Given the description of an element on the screen output the (x, y) to click on. 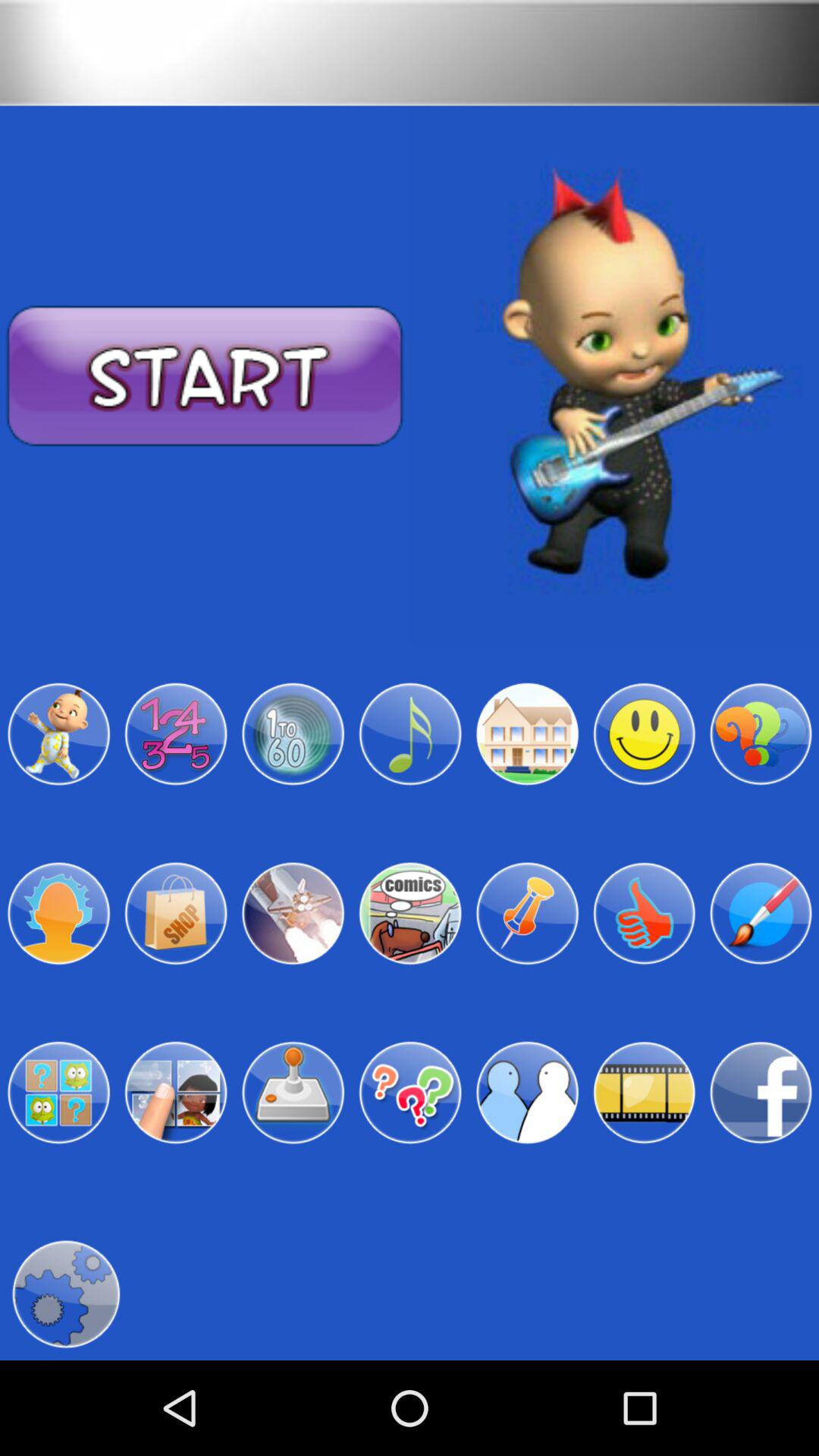
select activity (175, 734)
